Given the description of an element on the screen output the (x, y) to click on. 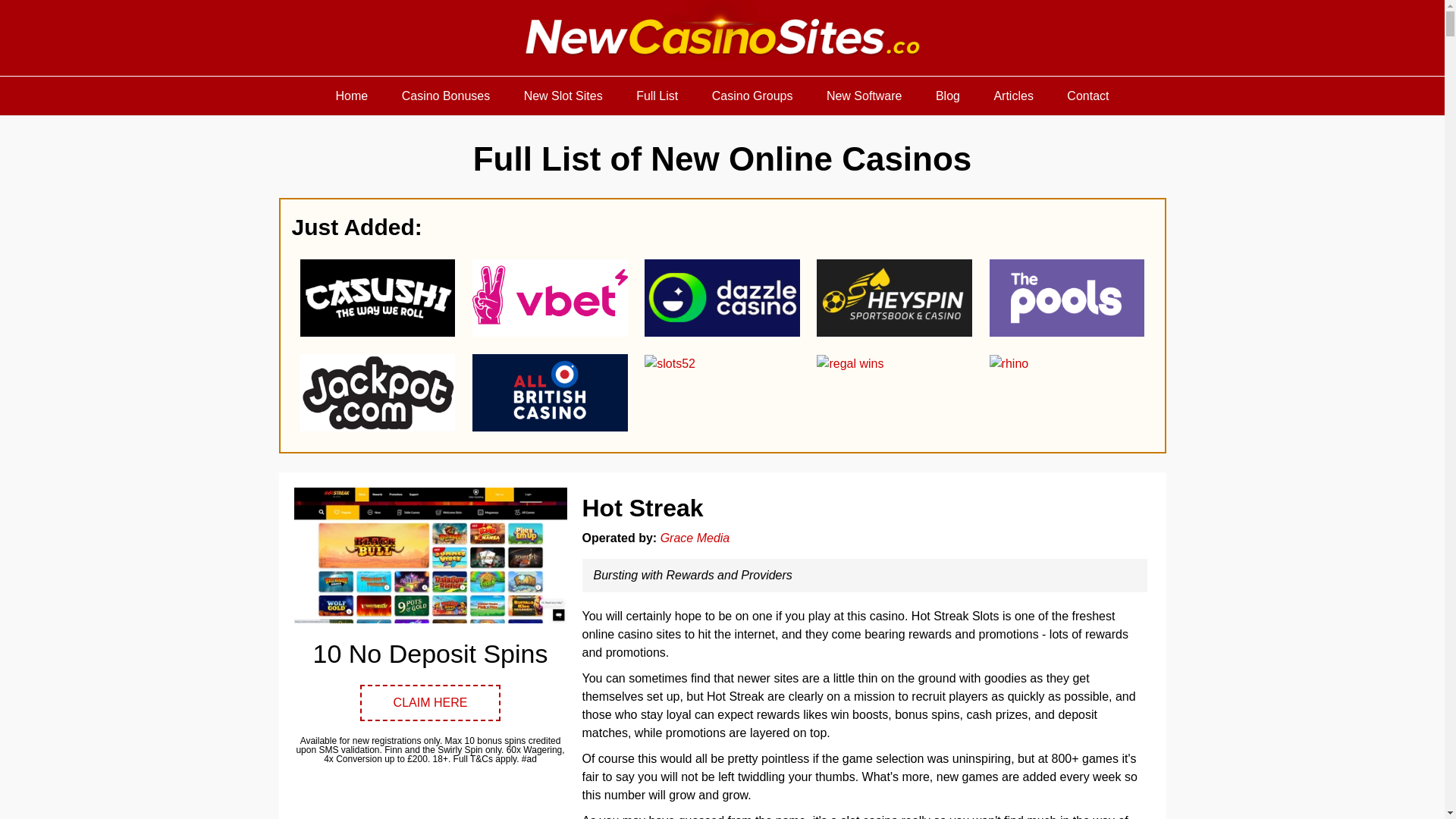
New Software (863, 95)
Casino Groups (752, 95)
Contact (1087, 95)
Blog (947, 95)
Articles (1013, 95)
Grace Media (695, 537)
Casino Bonuses (446, 95)
Full List (657, 95)
New Slot Sites (562, 95)
CLAIM HERE (430, 702)
